Given the description of an element on the screen output the (x, y) to click on. 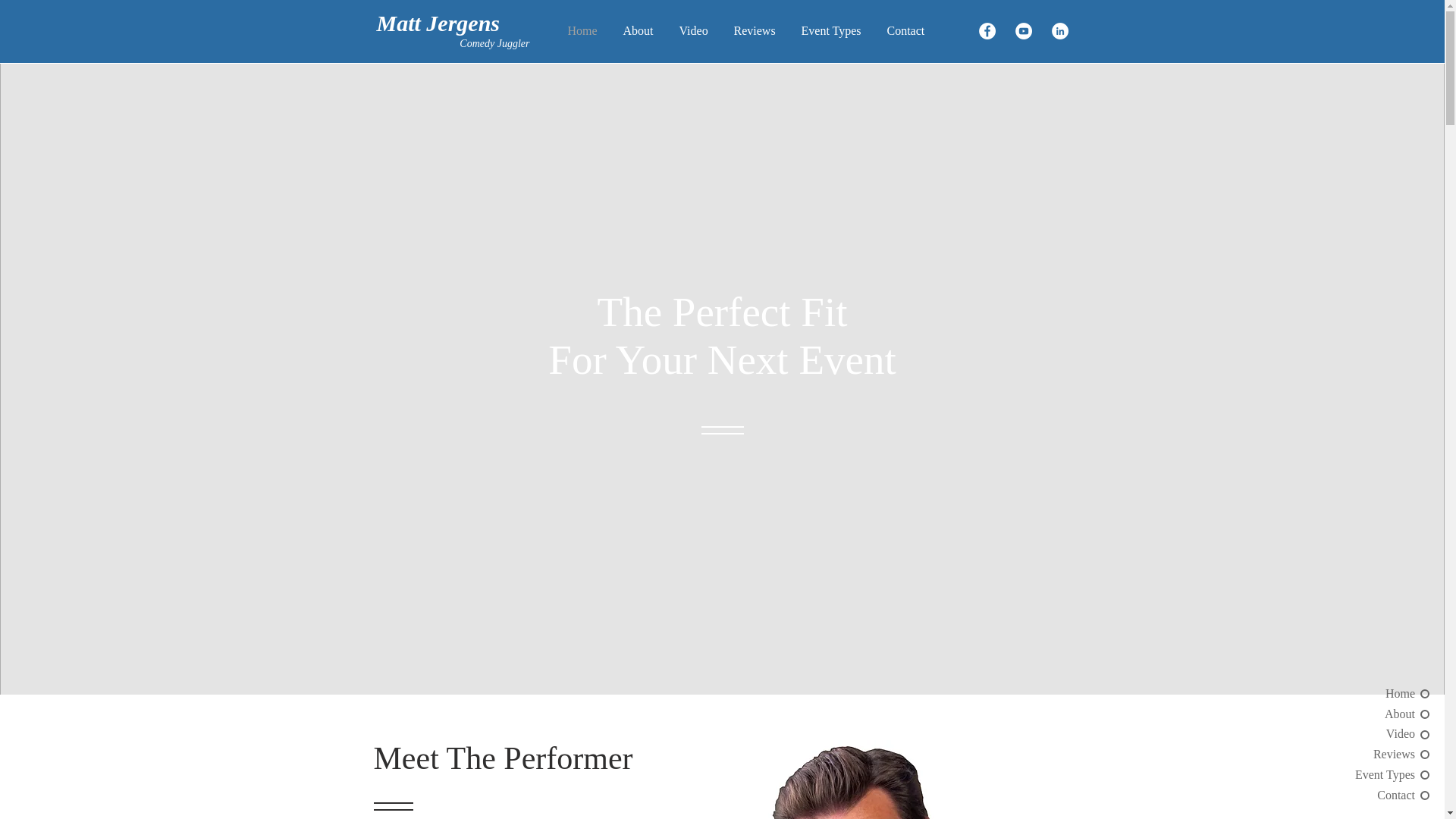
Contact (905, 31)
Comedy Juggler (494, 43)
Contact (1382, 795)
Video (692, 31)
Matt Jergens (437, 25)
Event Types (1382, 774)
Reviews (753, 31)
About (1382, 713)
About (637, 31)
Home (1382, 693)
Reviews (1382, 754)
Event Types (832, 31)
Video (1382, 733)
Home (582, 31)
